Given the description of an element on the screen output the (x, y) to click on. 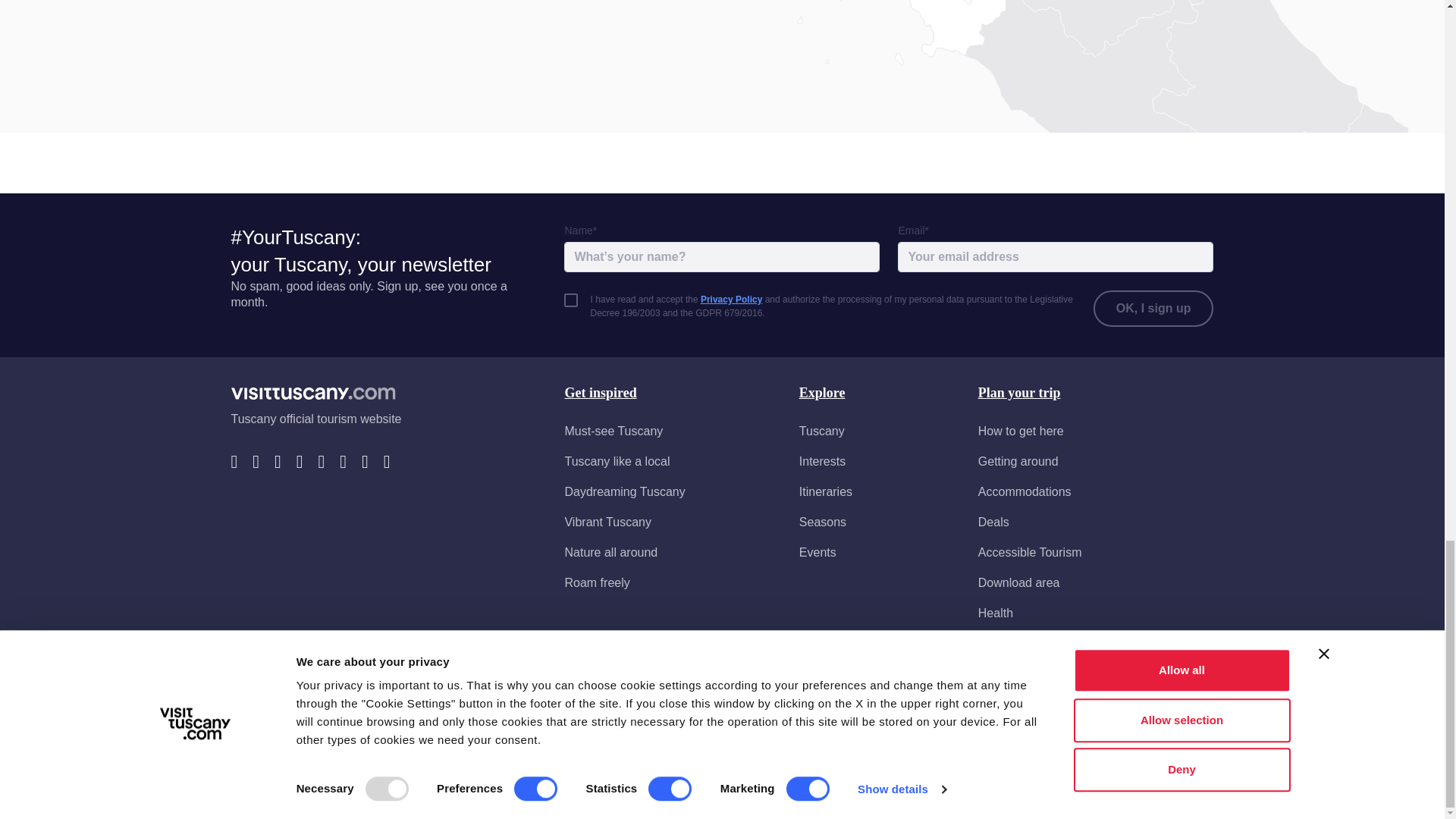
on (571, 300)
